Given the description of an element on the screen output the (x, y) to click on. 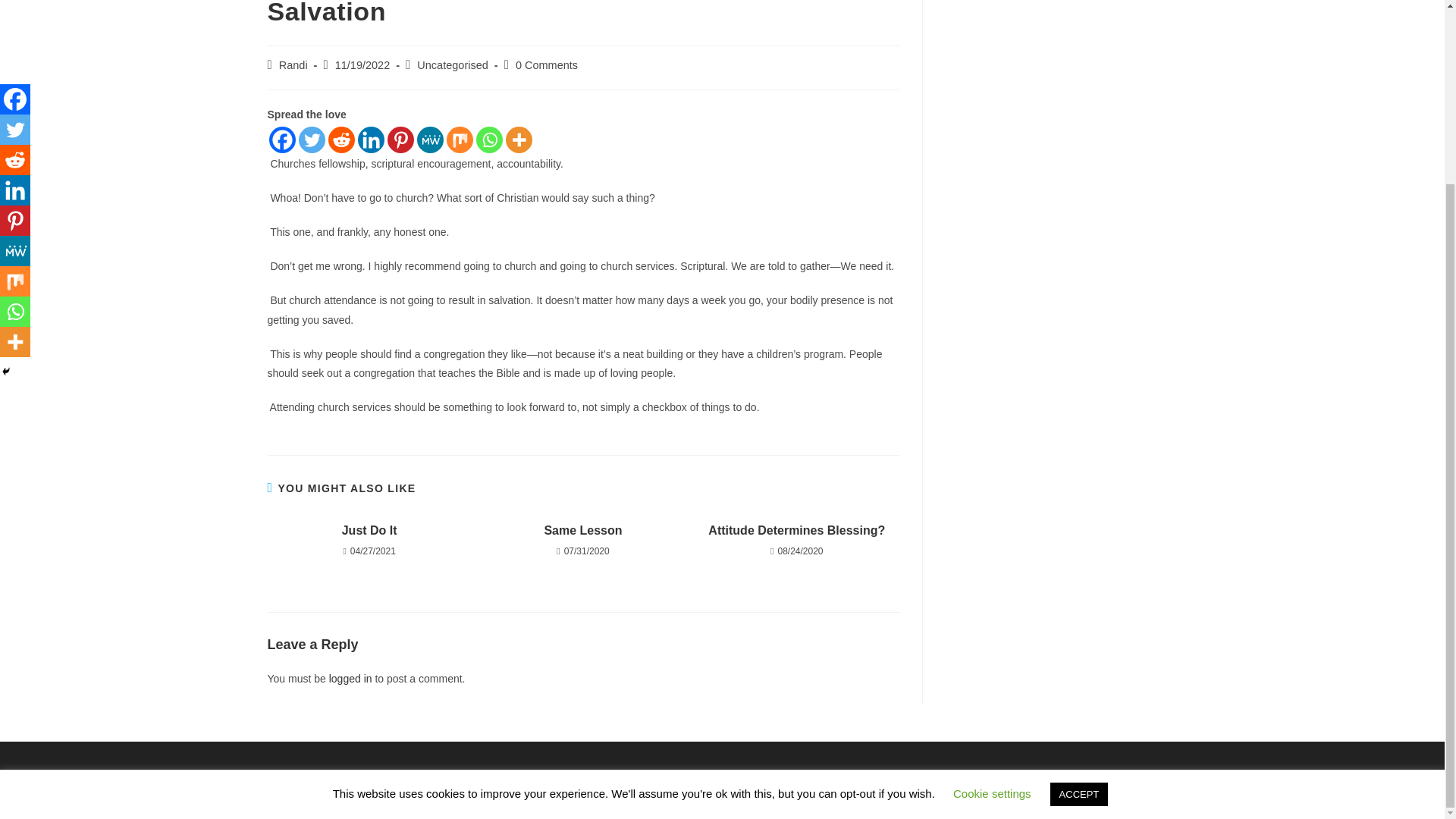
Linkedin (371, 139)
MeWe (430, 139)
Twitter (311, 139)
More (518, 139)
Whatsapp (489, 139)
Reddit (340, 139)
Pinterest (400, 139)
Posts by Randi (293, 64)
Mix (458, 139)
Facebook (281, 139)
